Given the description of an element on the screen output the (x, y) to click on. 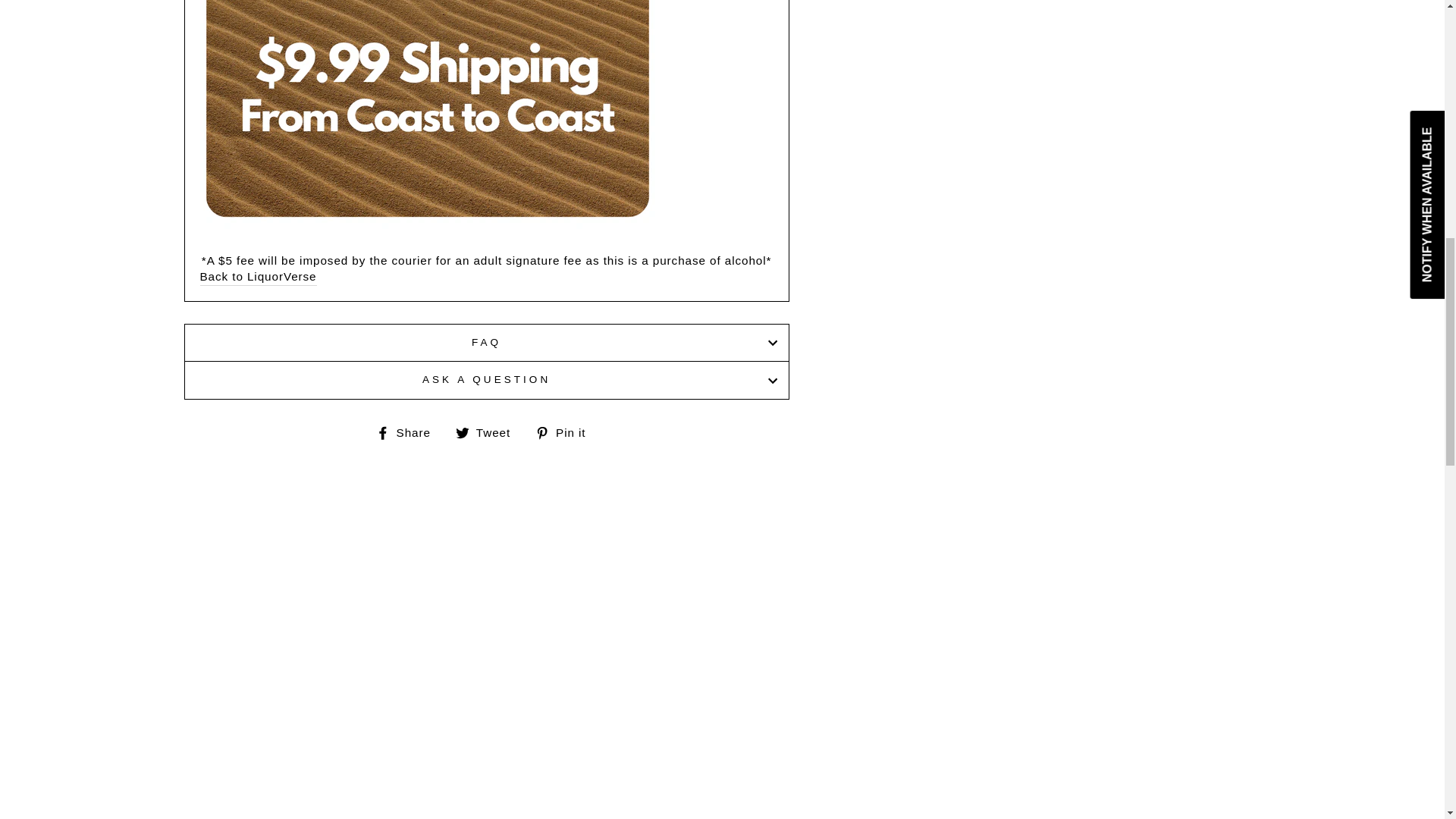
FAQ (486, 342)
Back to LiquorVerse (258, 276)
Share on Facebook (408, 431)
Tweet on Twitter (488, 431)
Pin on Pinterest (565, 431)
